Given the description of an element on the screen output the (x, y) to click on. 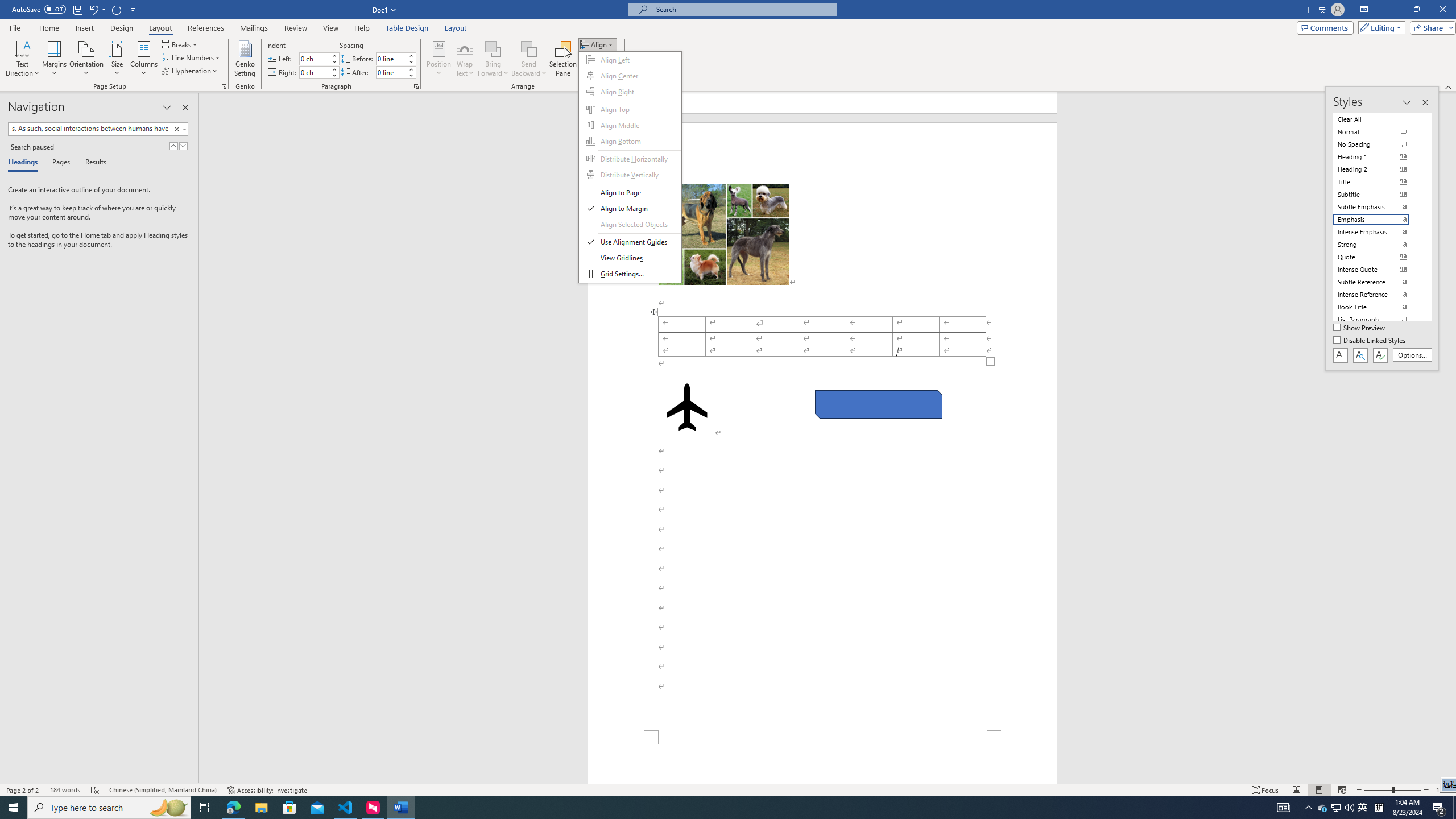
Indent Right (314, 72)
Airplane with solid fill (686, 406)
File Explorer (261, 807)
Intense Quote (1377, 269)
Quote (1377, 256)
Page Setup... (223, 85)
Previous Result (173, 145)
Hyphenation (189, 69)
